Given the description of an element on the screen output the (x, y) to click on. 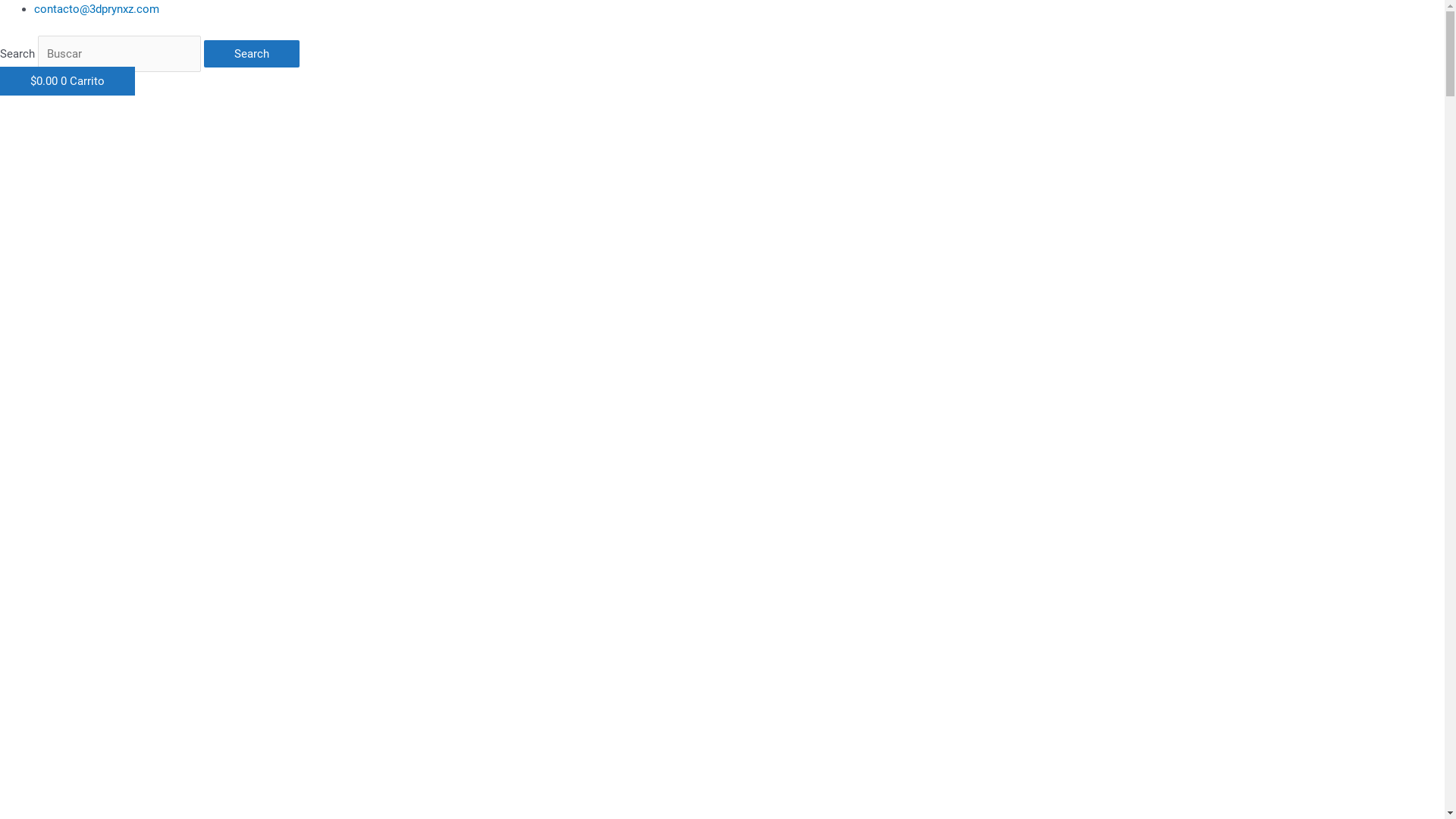
contacto@3dprynxz.com Element type: text (96, 8)
Search Element type: text (250, 53)
$0.00 0 Carrito Element type: text (67, 80)
